Given the description of an element on the screen output the (x, y) to click on. 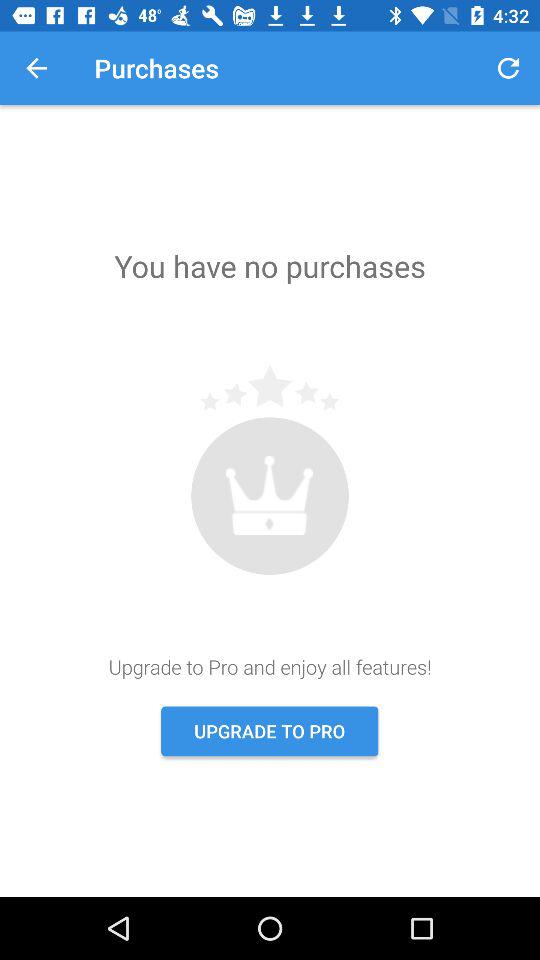
turn on item to the left of the purchases (36, 68)
